Given the description of an element on the screen output the (x, y) to click on. 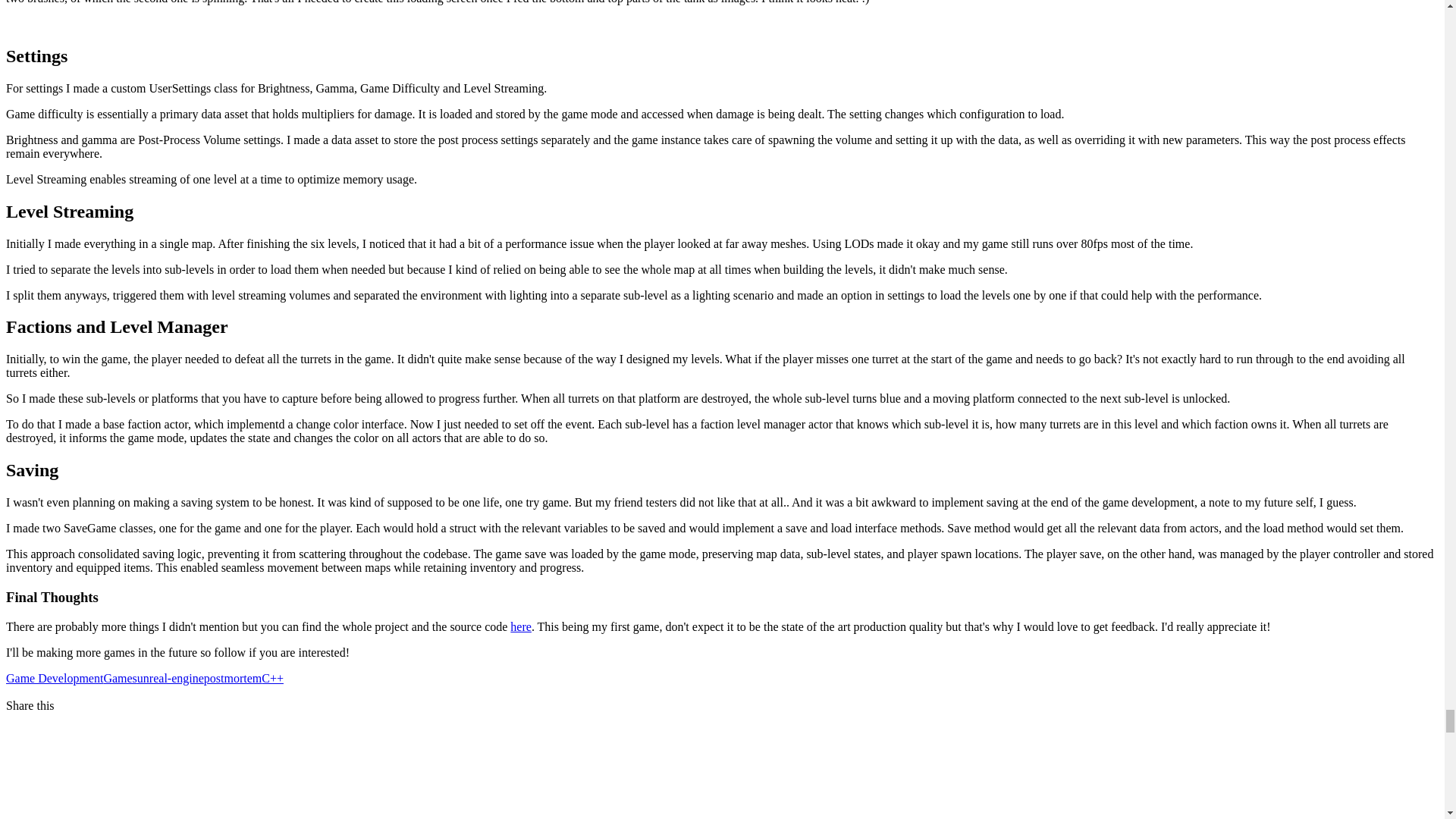
Game Development (54, 677)
Games (119, 677)
here (521, 626)
